Given the description of an element on the screen output the (x, y) to click on. 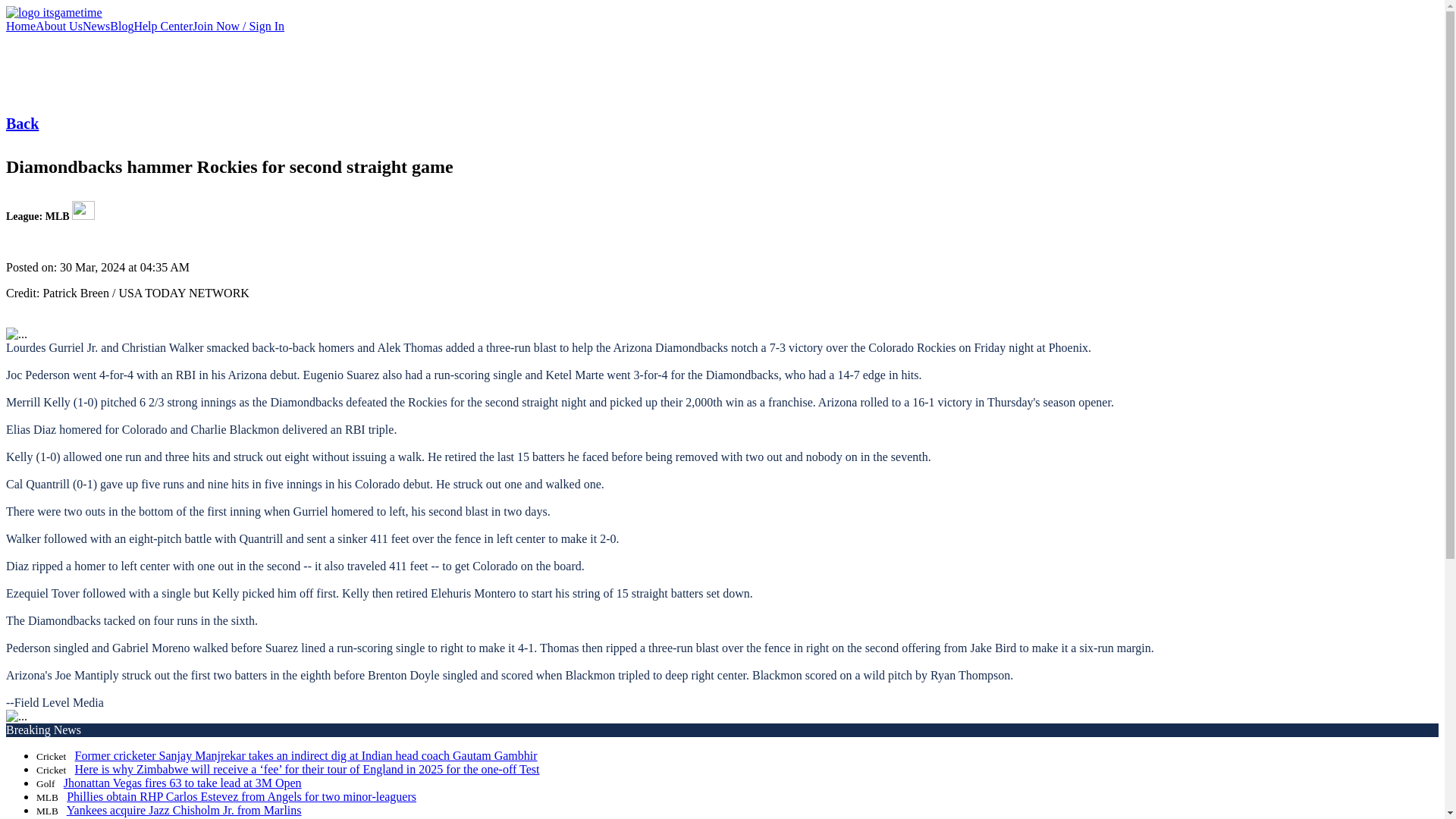
Home (19, 25)
Yankees acquire Jazz Chisholm Jr. from Marlins (183, 809)
Blog (121, 25)
Back (22, 123)
Jhonattan Vegas fires 63 to take lead at 3M Open (182, 782)
Help Center (162, 25)
News (96, 25)
About Us (58, 25)
